Given the description of an element on the screen output the (x, y) to click on. 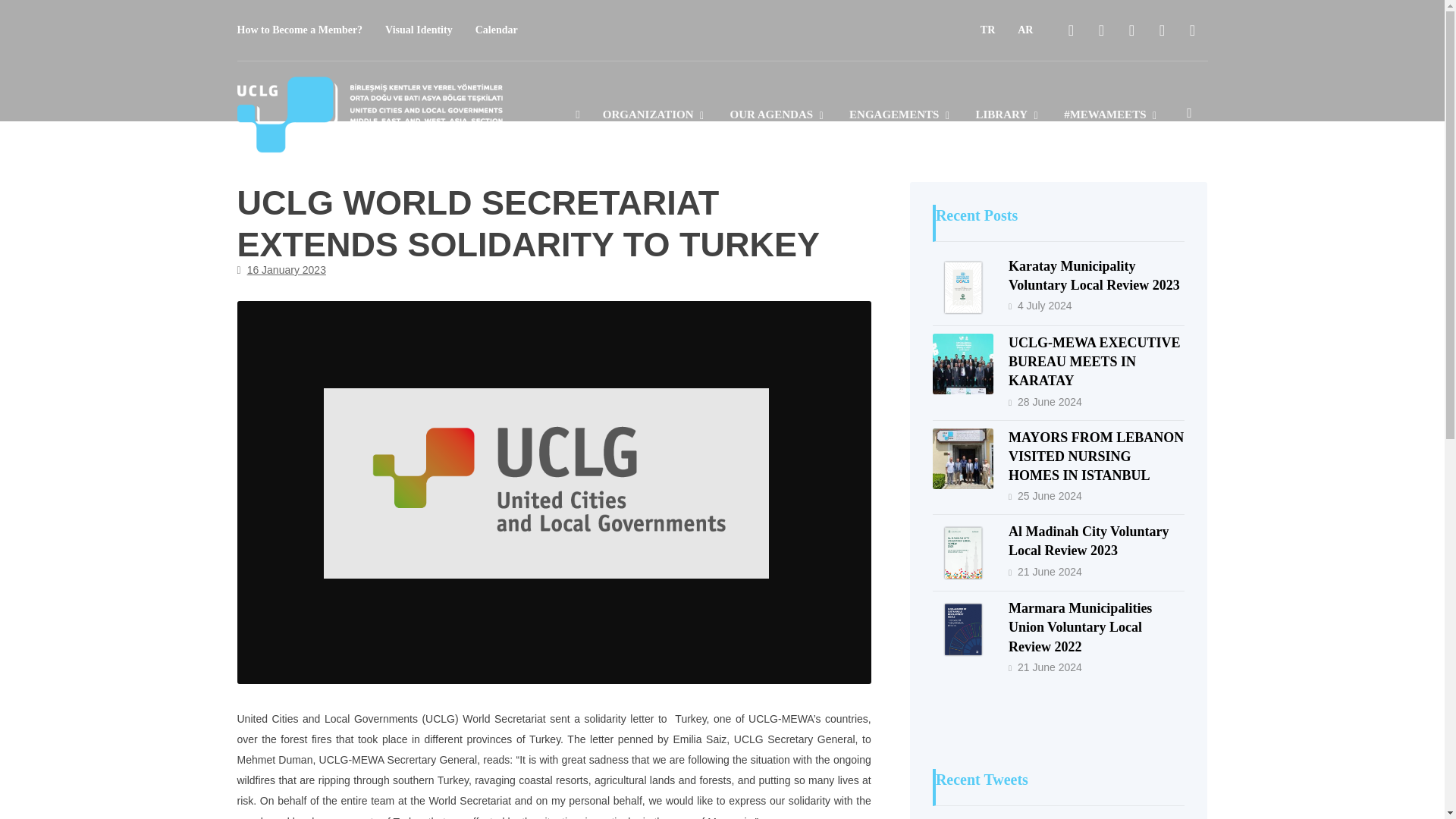
Visual Identity (418, 30)
ORGANIZATION (654, 119)
Instagram (1131, 30)
TR (986, 30)
Flickr (1191, 30)
ENGAGEMENTS (900, 119)
OUR AGENDAS (778, 119)
Facebook (1070, 30)
AR (1024, 30)
How to Become a Member? (298, 30)
Twitter (1101, 30)
YouTube (1161, 30)
Calendar (497, 30)
